Given the description of an element on the screen output the (x, y) to click on. 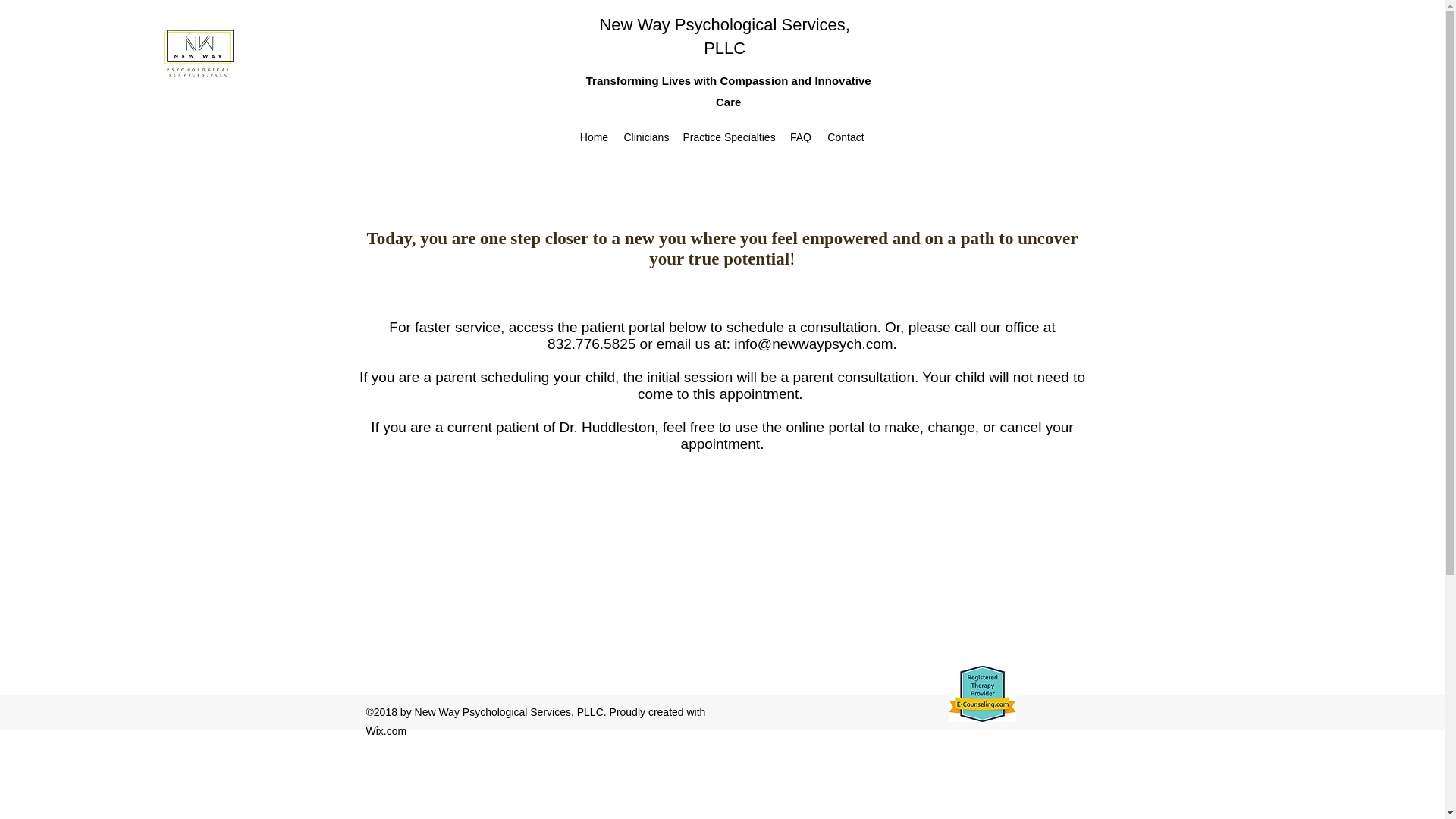
Home (593, 136)
FAQ (799, 136)
Clinicians (645, 136)
Contact (845, 136)
Practice Specialties (728, 136)
New Way Psychological Services, PLLC (724, 36)
